Given the description of an element on the screen output the (x, y) to click on. 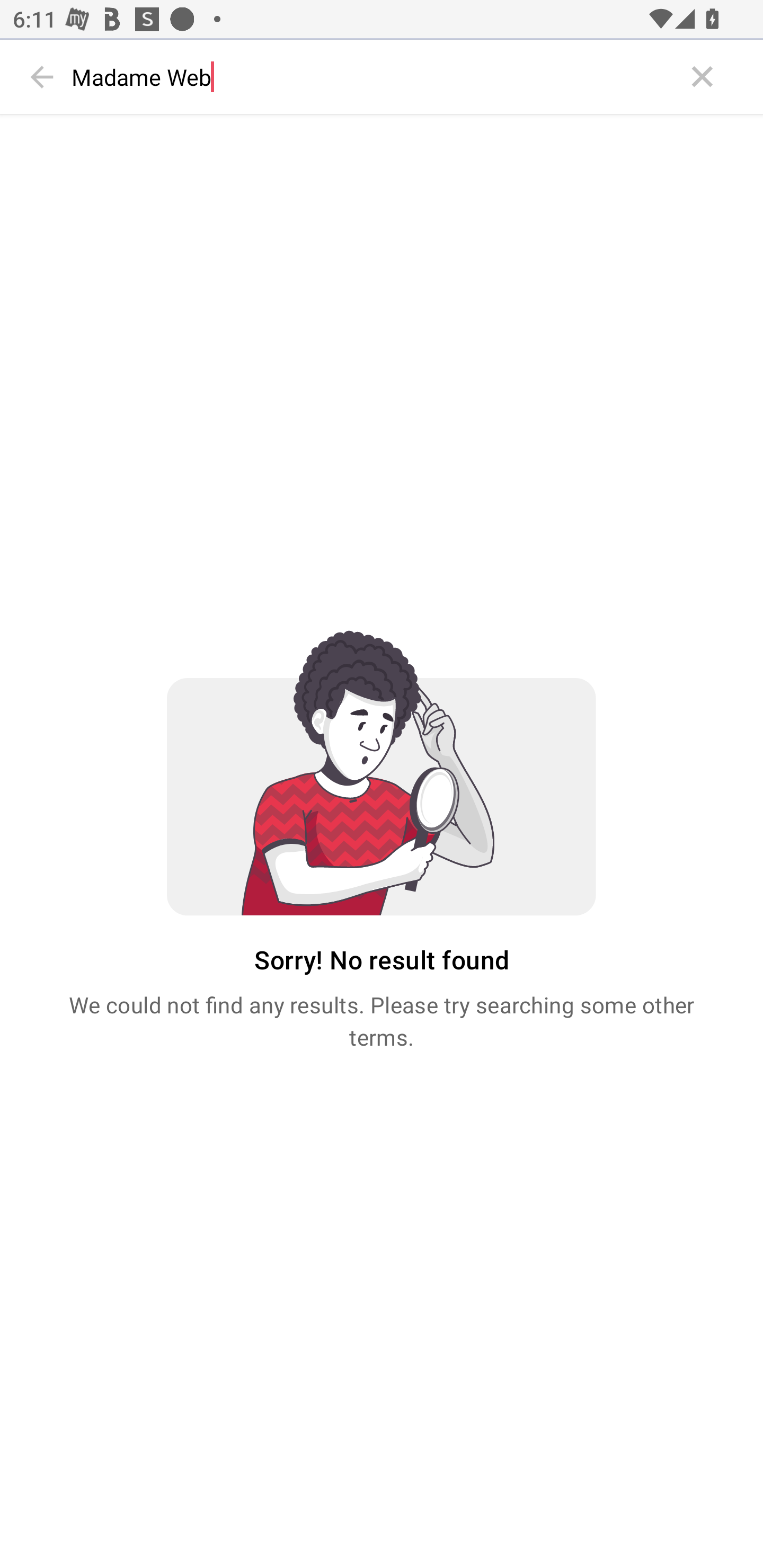
Back (42, 76)
Madame Web (373, 76)
Close (702, 76)
